Given the description of an element on the screen output the (x, y) to click on. 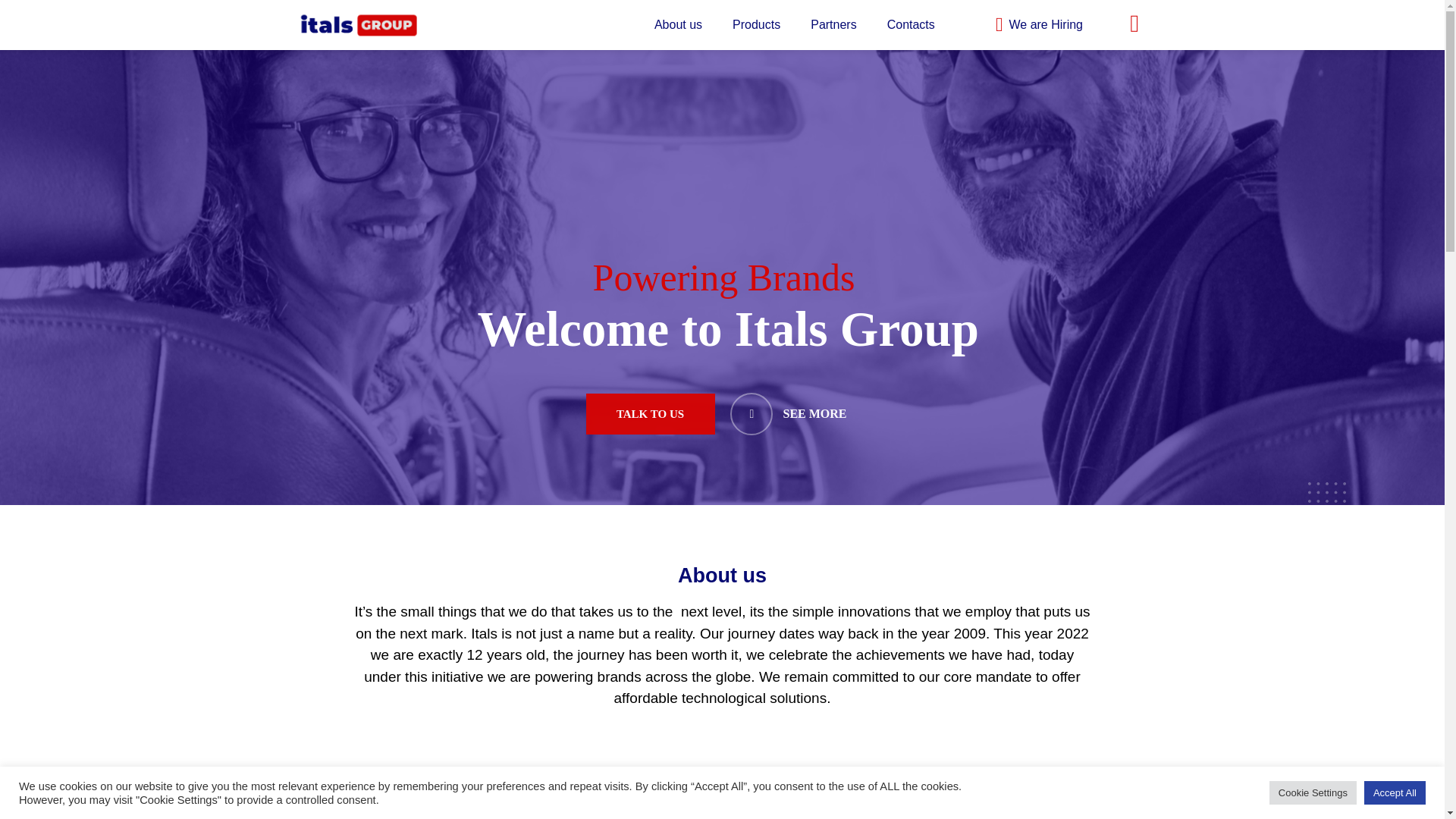
About us (678, 24)
Partners (832, 24)
TALK TO US (649, 413)
Contacts (911, 24)
We are Hiring (1030, 25)
Products (755, 24)
